Given the description of an element on the screen output the (x, y) to click on. 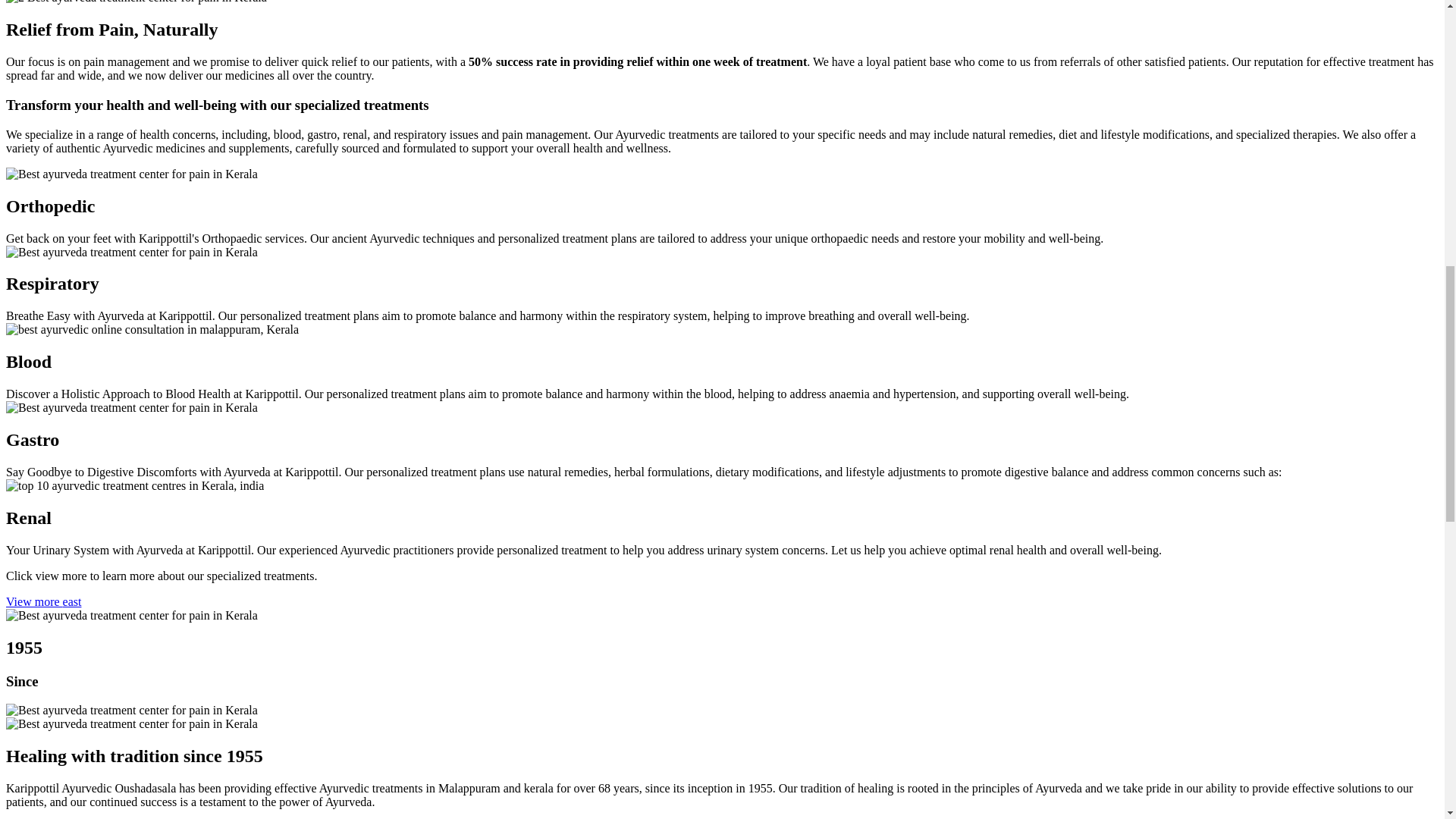
View more east (43, 601)
